Given the description of an element on the screen output the (x, y) to click on. 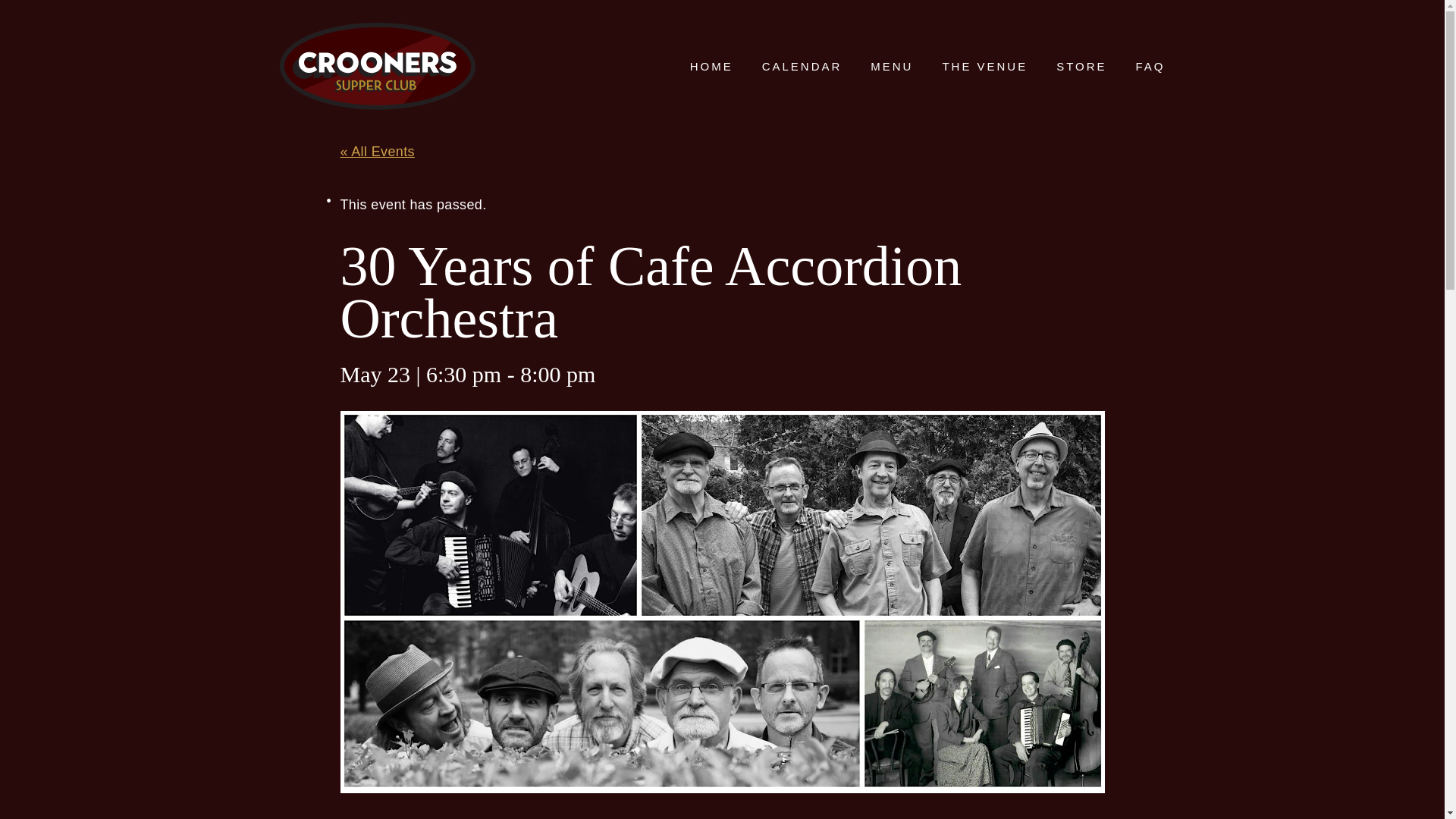
THE VENUE (984, 65)
FAQ (1150, 65)
Crooners Supper Club (376, 65)
STORE (1081, 65)
HOME (711, 65)
Crooners Supper Club (376, 65)
MENU (891, 65)
CALENDAR (802, 65)
